Given the description of an element on the screen output the (x, y) to click on. 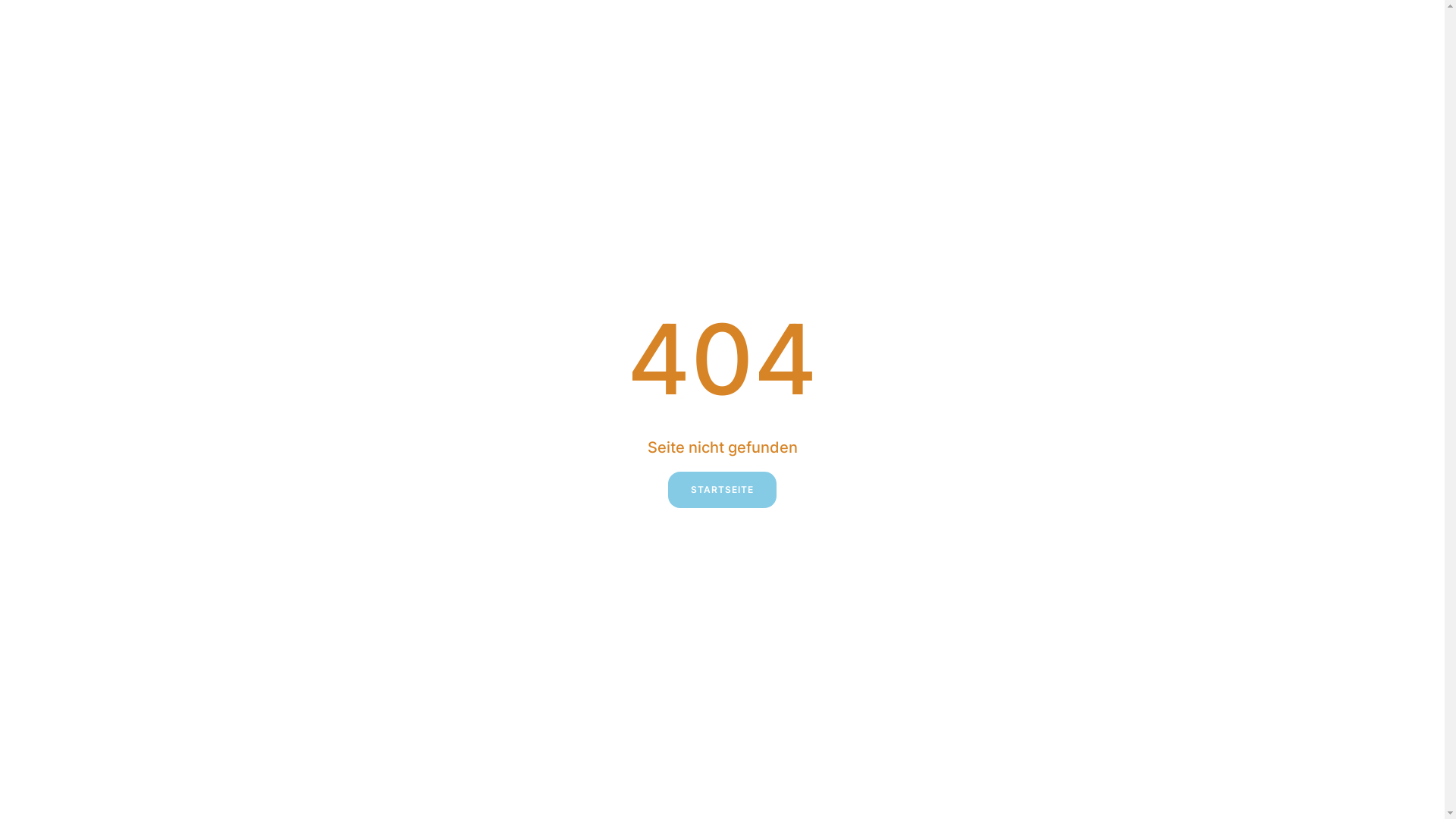
STARTSEITE Element type: text (722, 489)
